Given the description of an element on the screen output the (x, y) to click on. 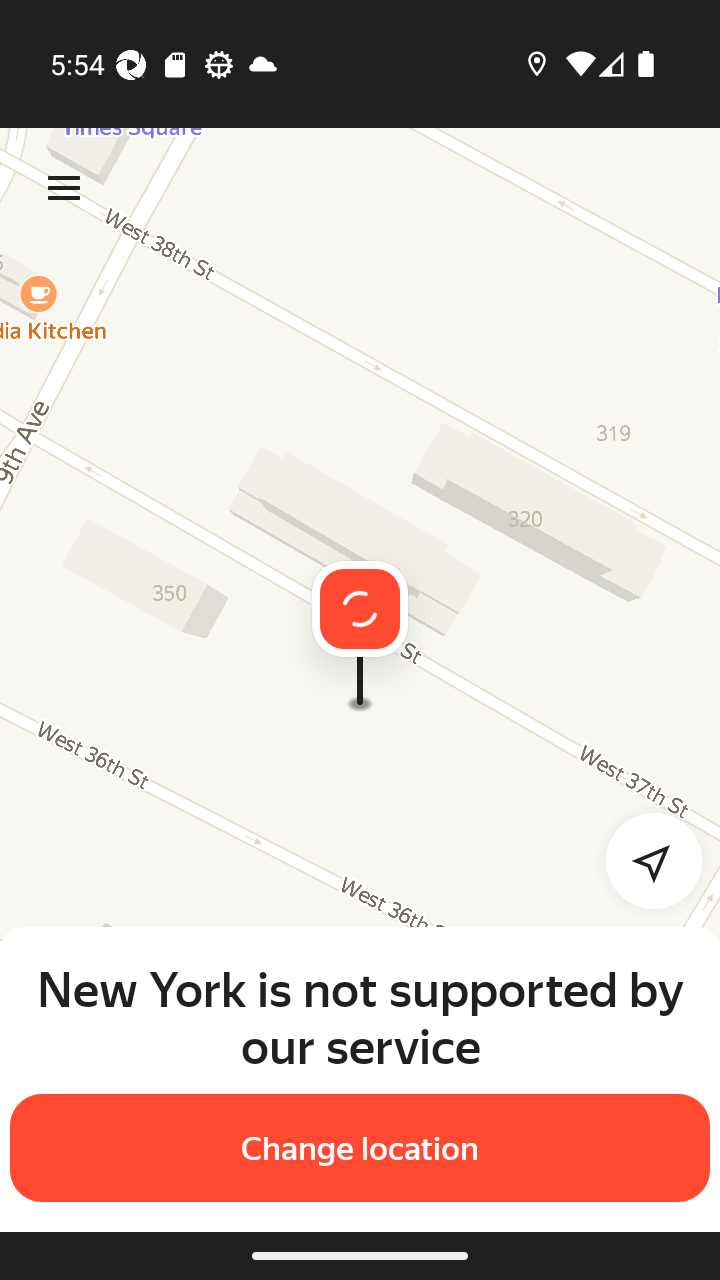
Menu Menu Menu (64, 188)
Detect my location (641, 860)
New York is not supported by our service (360, 1017)
Change location (359, 1147)
